Given the description of an element on the screen output the (x, y) to click on. 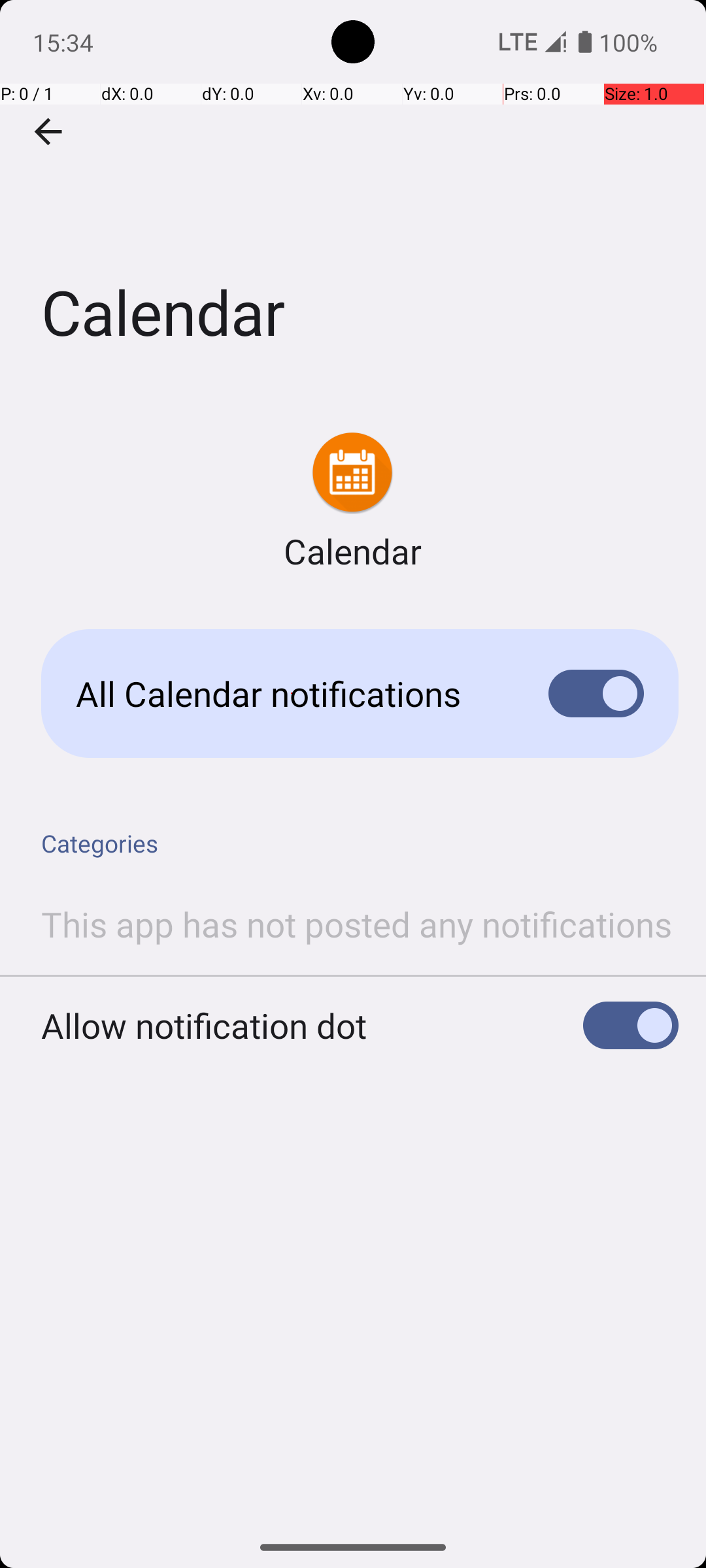
All Calendar notifications Element type: android.widget.TextView (291, 693)
This app has not posted any notifications Element type: android.widget.TextView (356, 923)
Allow notification dot Element type: android.widget.TextView (203, 1025)
